Given the description of an element on the screen output the (x, y) to click on. 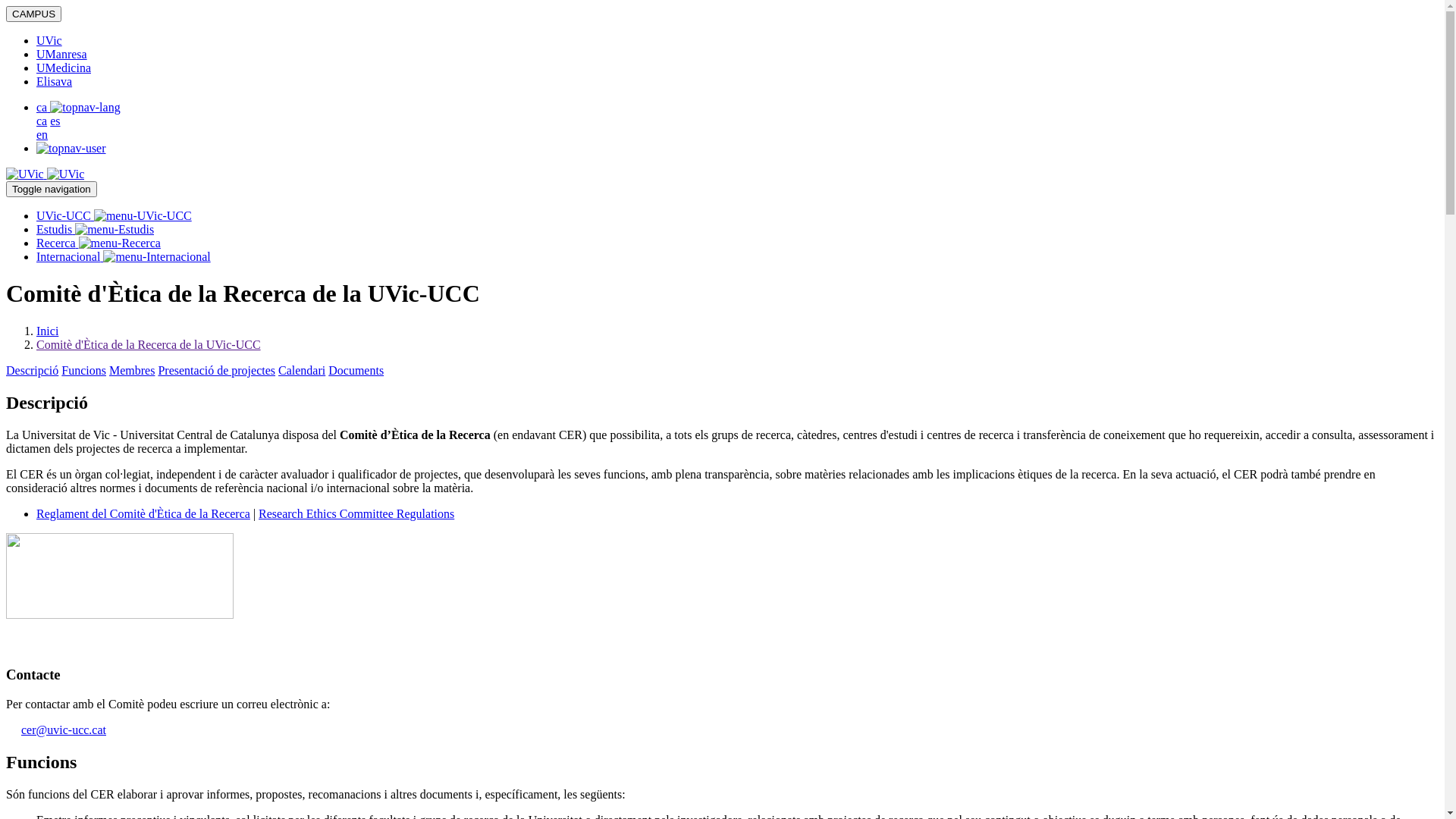
UManresa Element type: text (61, 53)
Inici Element type: text (47, 330)
Skip to main content Element type: text (6, 6)
Research Ethics Committee Regulations Element type: text (356, 513)
Funcions Element type: text (83, 370)
Elisava Element type: text (54, 81)
Internacional Element type: text (123, 256)
UVic Element type: text (49, 40)
UVic-UCC Element type: text (113, 215)
en Element type: text (41, 134)
Membres Element type: text (131, 370)
UMedicina Element type: text (63, 67)
CAMPUS Element type: text (33, 13)
ca Element type: text (78, 106)
cer@uvic-ucc.cat Element type: text (56, 729)
Toggle navigation Element type: text (51, 189)
ca Element type: text (41, 120)
Estudis Element type: text (94, 228)
Calendari Element type: text (301, 370)
Recerca Element type: text (98, 242)
es Element type: text (54, 120)
Documents Element type: text (355, 370)
